Given the description of an element on the screen output the (x, y) to click on. 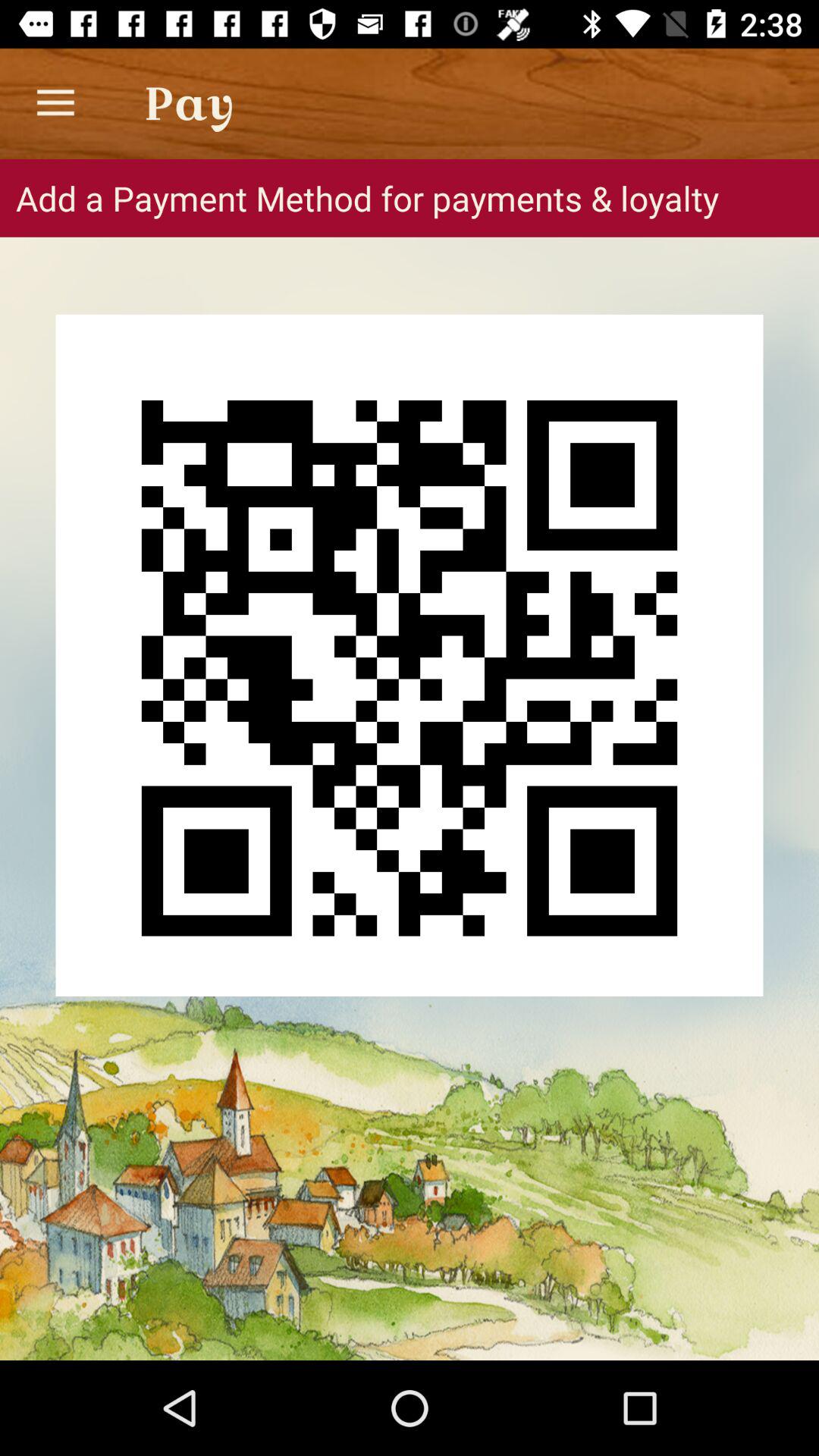
tap the icon at the center (409, 655)
